Given the description of an element on the screen output the (x, y) to click on. 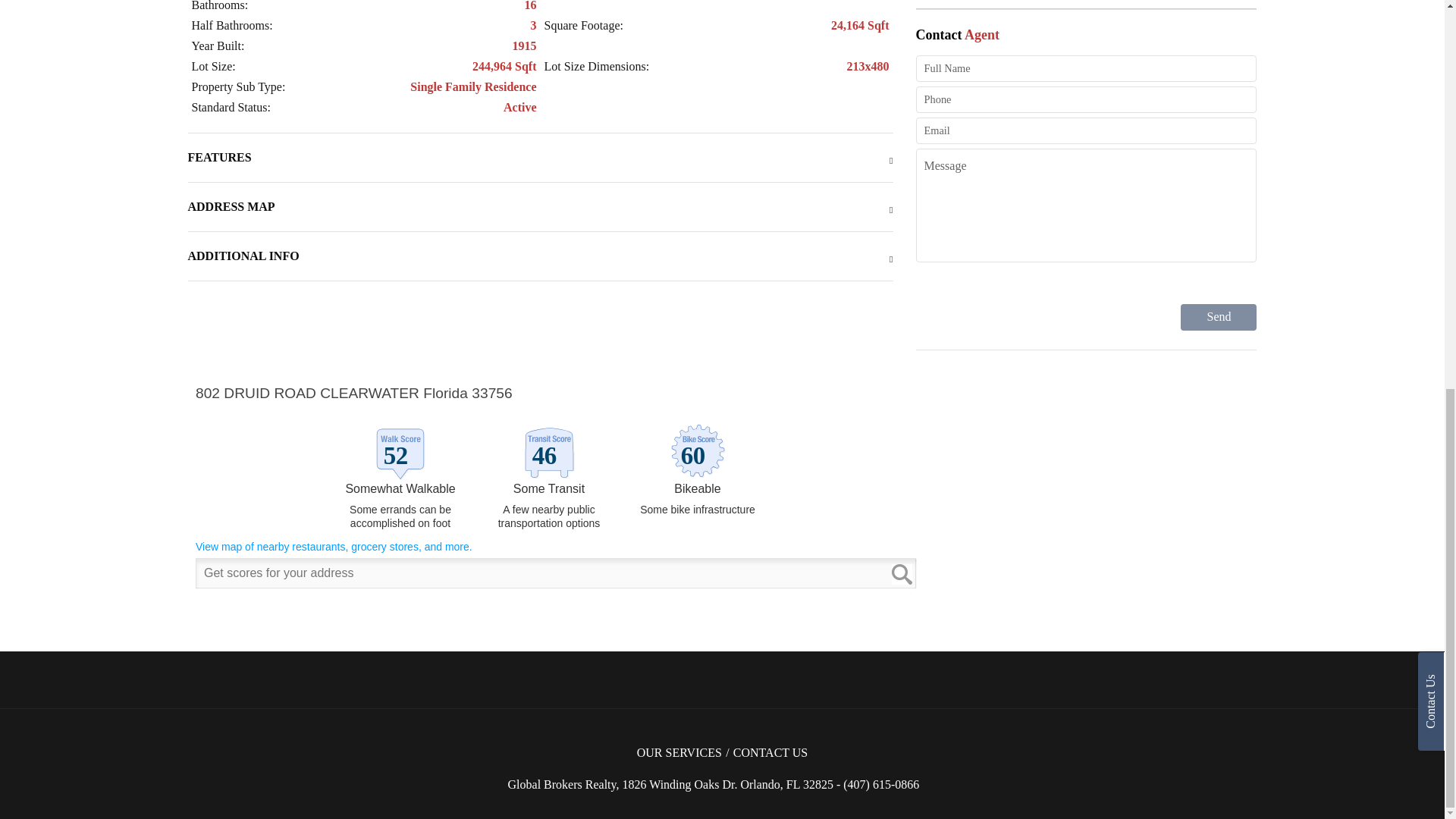
Send (1218, 316)
